Given the description of an element on the screen output the (x, y) to click on. 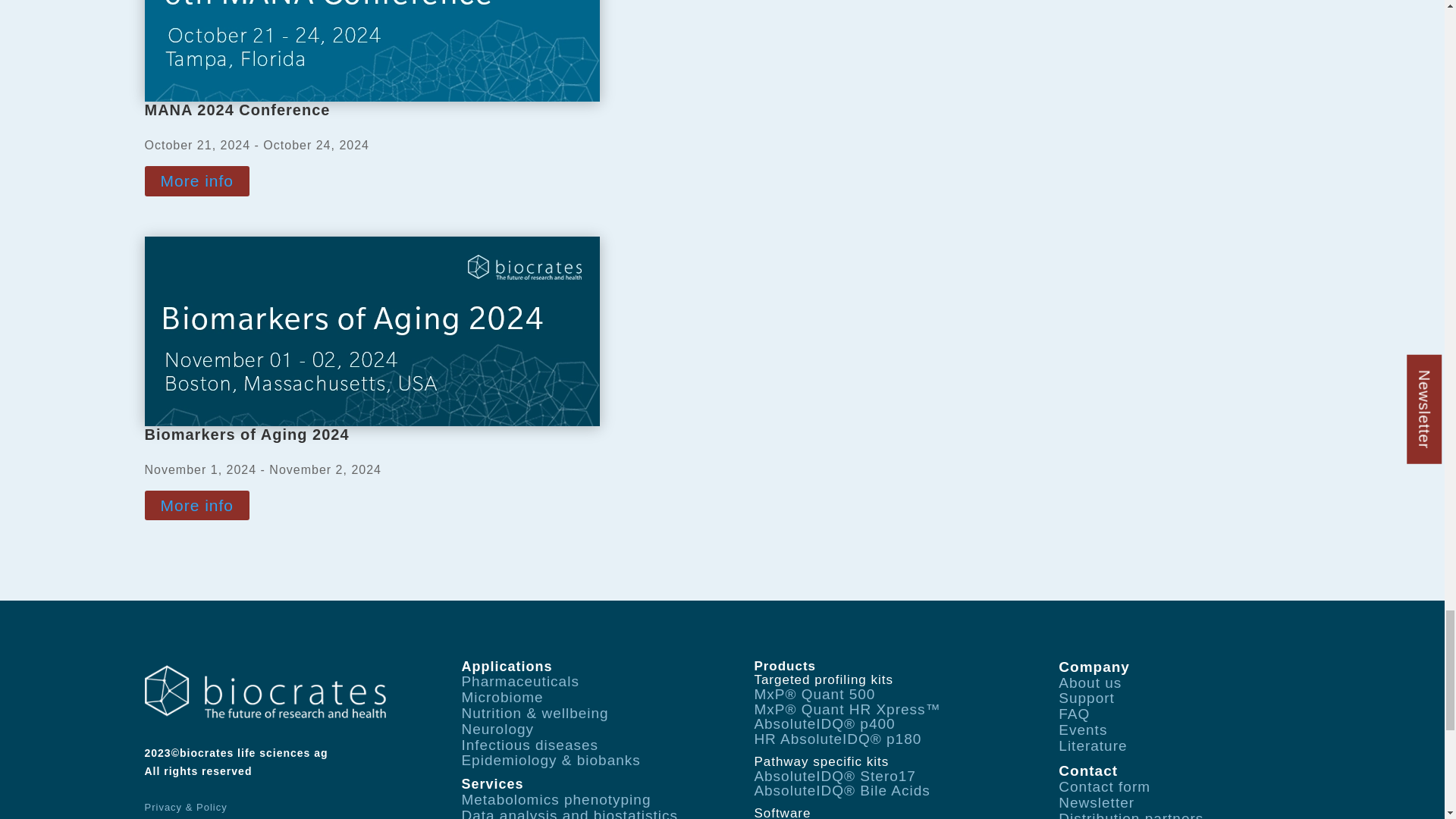
biocrates-logo-transparent-white (264, 691)
Neurology (497, 729)
Metabolomics phenotyping (555, 799)
Microbiome (502, 697)
